Given the description of an element on the screen output the (x, y) to click on. 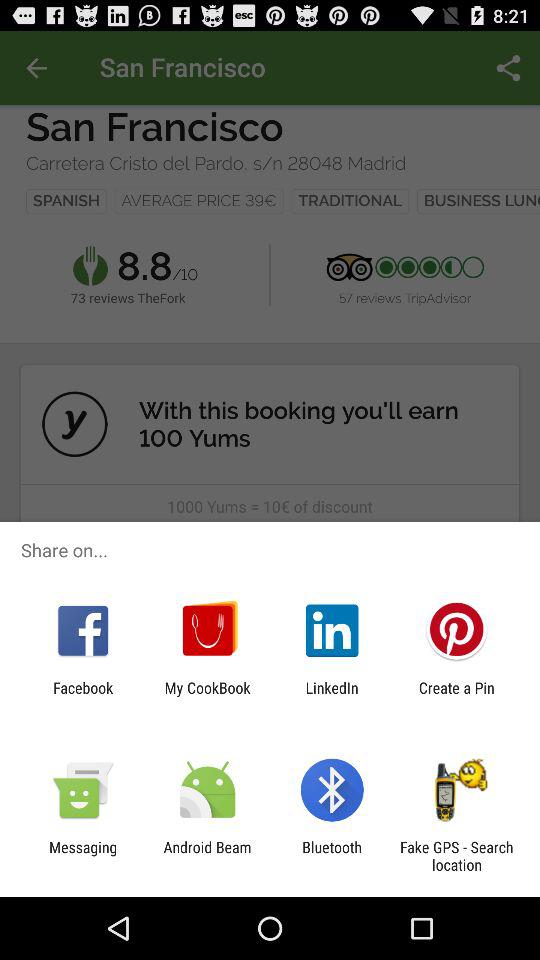
launch app to the right of android beam app (331, 856)
